Given the description of an element on the screen output the (x, y) to click on. 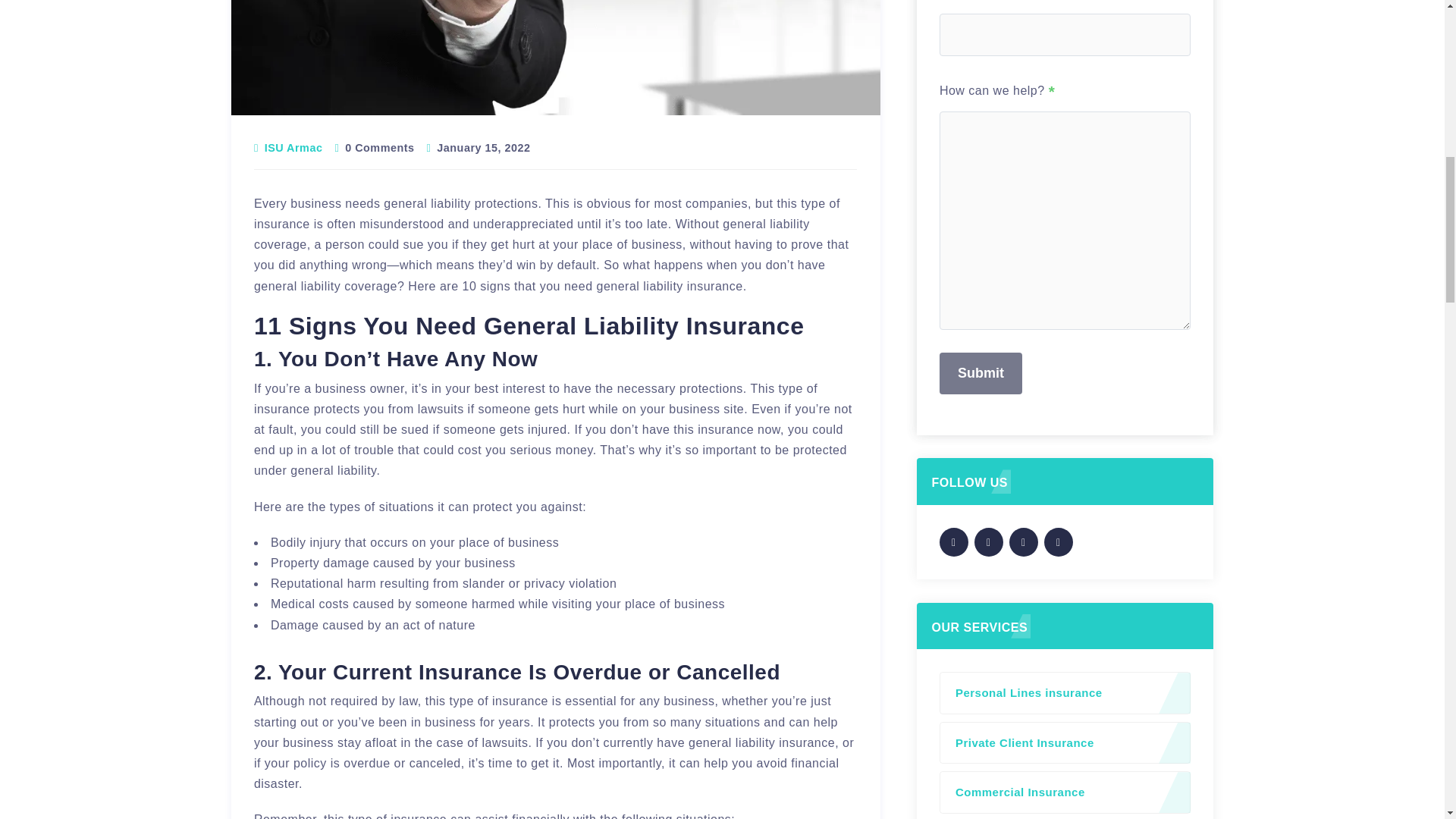
Submit (980, 372)
ISU Armac (293, 147)
Posts by ISU Armac (293, 147)
